Given the description of an element on the screen output the (x, y) to click on. 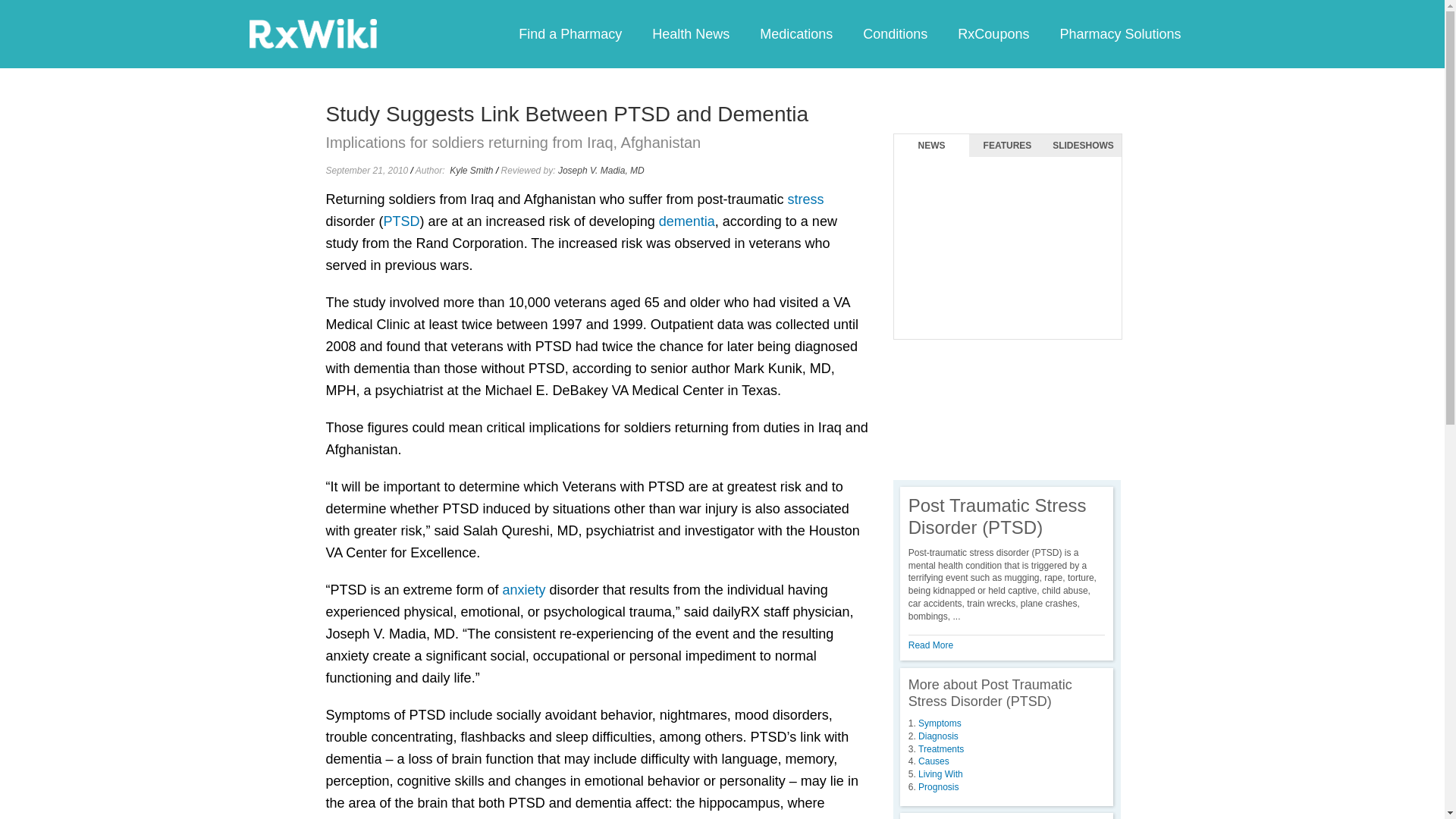
Find a Pharmacy (570, 33)
anxiety (524, 589)
RxCoupons (992, 33)
Conditions (894, 33)
PTSD (402, 221)
Medications (795, 33)
Pharmacy Solutions (1119, 33)
Health News (690, 33)
FEATURES (1007, 145)
RxWiki (312, 32)
